Given the description of an element on the screen output the (x, y) to click on. 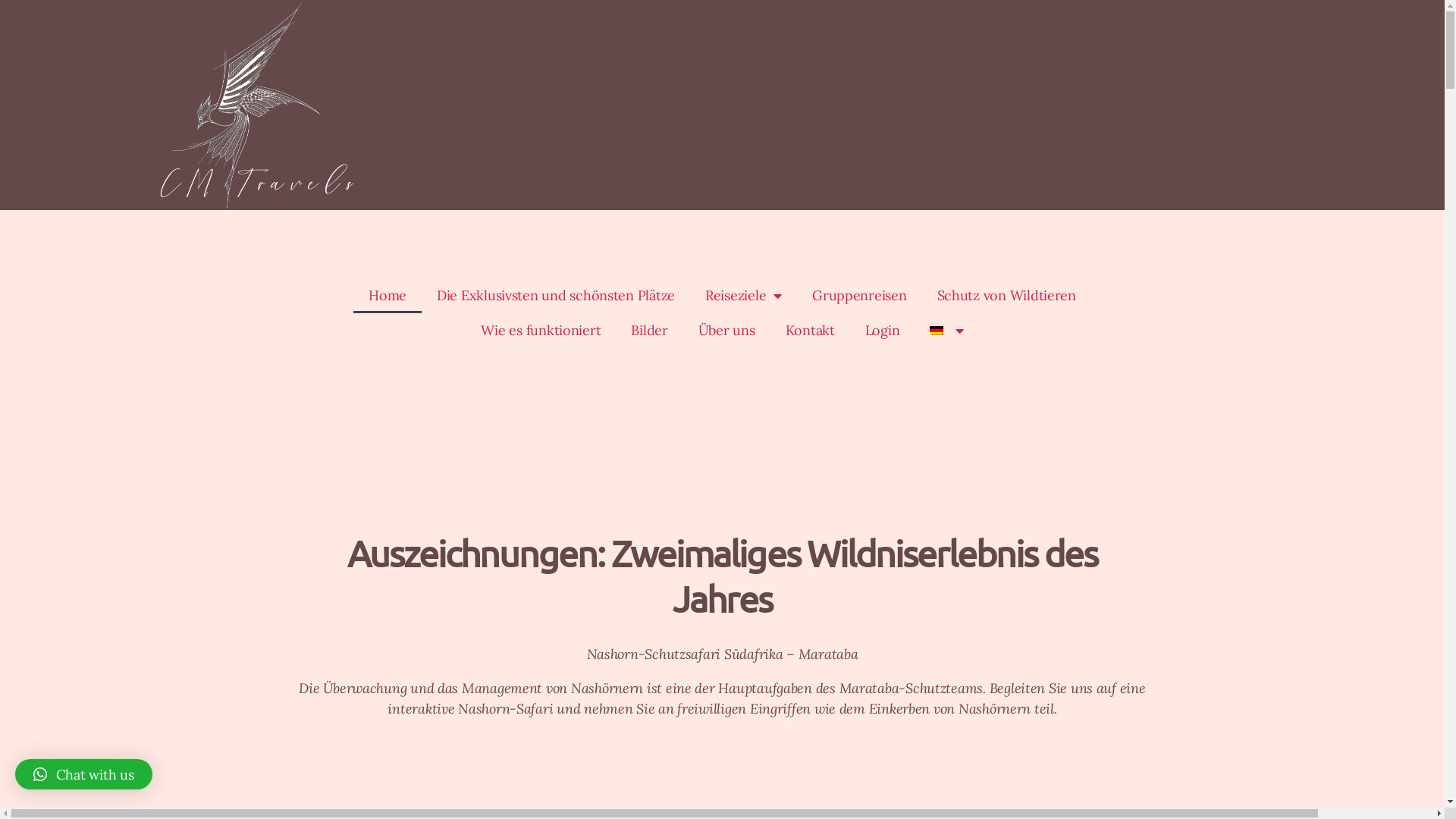
Reiseziele Element type: text (743, 295)
Gruppenreisen Element type: text (859, 295)
Schutz von Wildtieren Element type: text (1006, 295)
Chat with us Element type: text (83, 774)
Kontakt Element type: text (810, 330)
Wie es funktioniert Element type: text (540, 330)
Home Element type: text (387, 295)
Bilder Element type: text (648, 330)
Login Element type: text (882, 330)
